Given the description of an element on the screen output the (x, y) to click on. 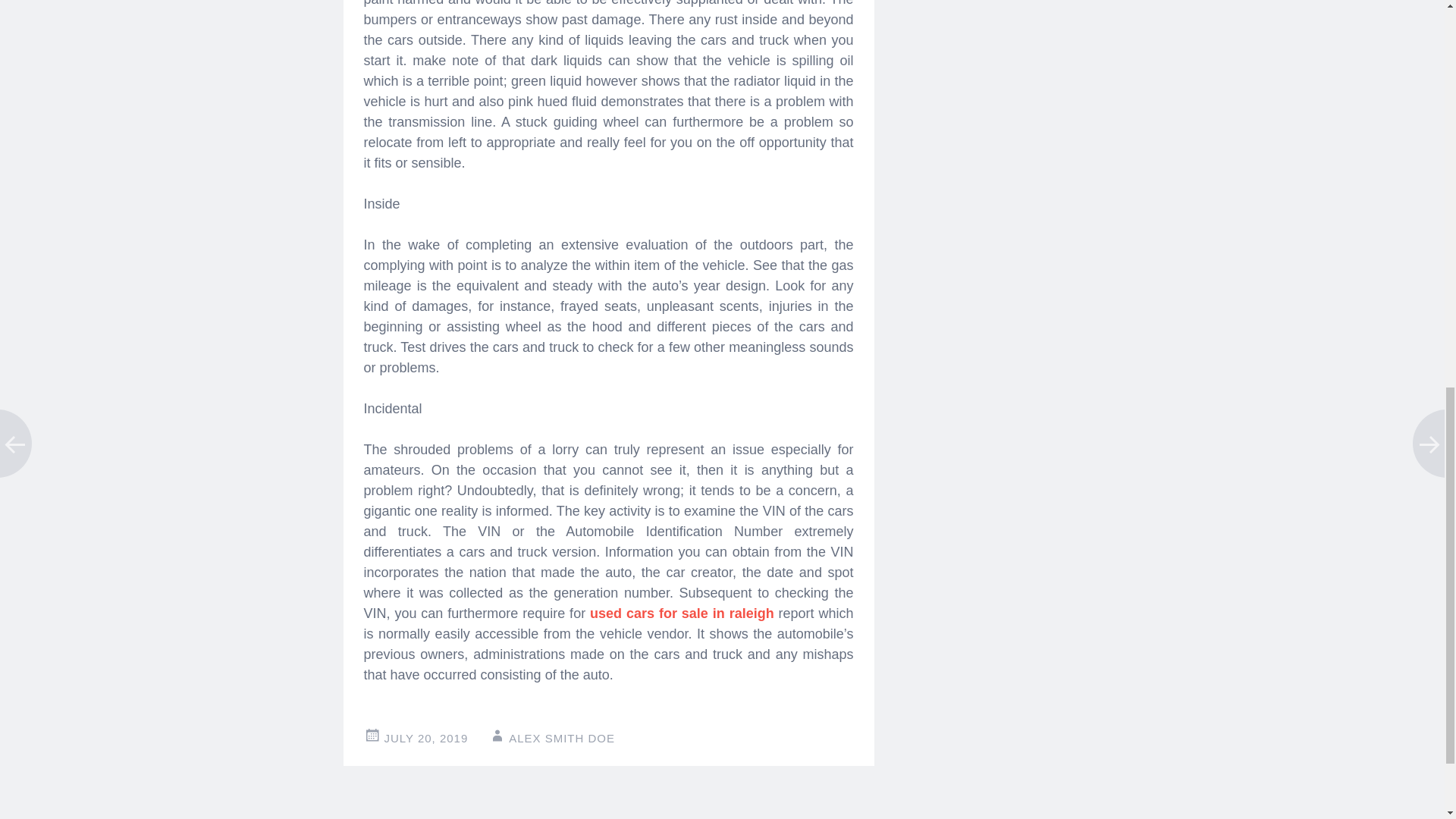
View all posts by Alex Smith Doe (561, 738)
4:47 am (425, 738)
